Given the description of an element on the screen output the (x, y) to click on. 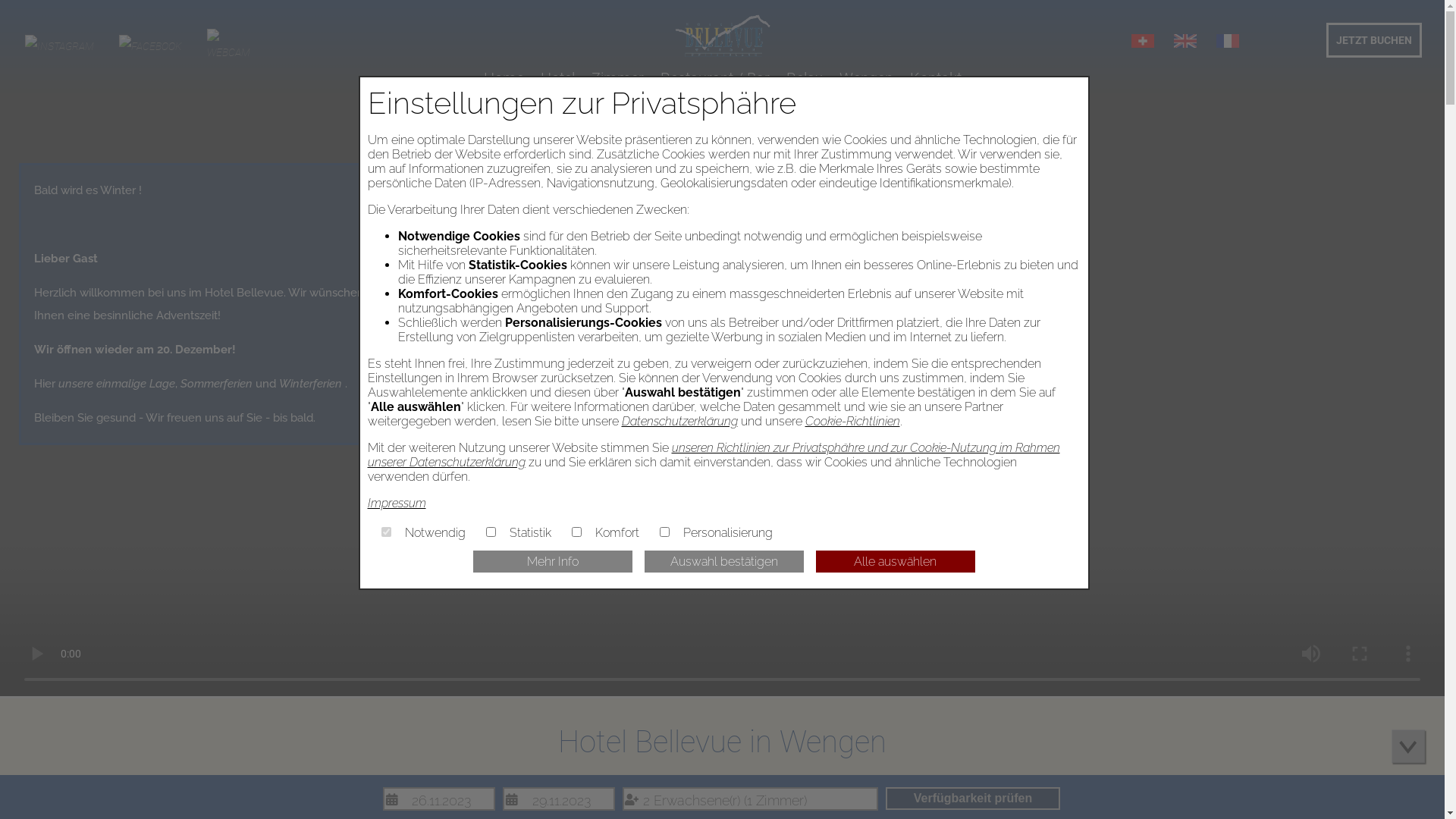
2 Erwachsene(r) (1 Zimmer) Element type: text (750, 798)
Kontakt Element type: text (935, 77)
Instagram Element type: hover (59, 46)
Hotel Bellevue Wengen Element type: hover (721, 36)
unsere einmalige Lage Element type: text (116, 383)
JETZT BUCHEN Element type: text (1374, 40)
Englisch Element type: hover (1185, 40)
Instagram Element type: hover (150, 46)
Wengen Element type: text (865, 77)
Hotel Bellevue Wengen Element type: hover (721, 61)
Webcam Element type: hover (228, 52)
Cookie-Richtlinien Element type: text (852, 421)
Home Element type: text (503, 77)
Impressum Element type: text (396, 502)
Relax Element type: text (803, 77)
26.11.2023 Element type: text (438, 798)
Facebook Element type: hover (150, 45)
Zimmer Element type: text (617, 77)
Hotel Element type: text (556, 77)
Go-Down Element type: hover (1410, 748)
Deutsch Element type: hover (1142, 40)
Sommerferien Element type: text (216, 383)
Winterferien Element type: text (310, 383)
29.11.2023 Element type: text (558, 798)
Instagram Element type: hover (59, 45)
Webcam Element type: hover (228, 45)
Restaurant / Bar Element type: text (713, 77)
